Given the description of an element on the screen output the (x, y) to click on. 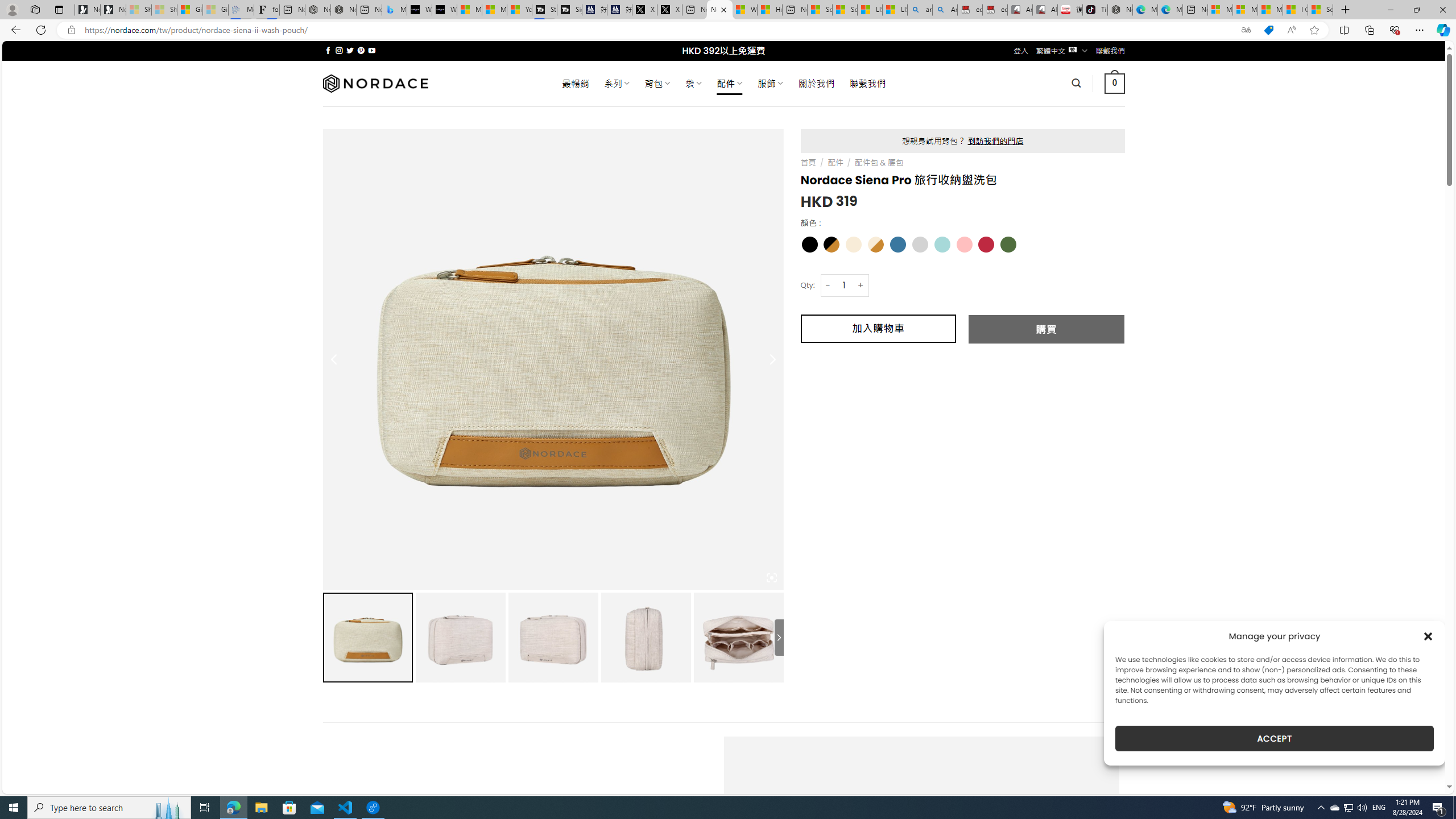
- (827, 284)
This site has coupons! Shopping in Microsoft Edge (1268, 29)
Follow on Instagram (338, 50)
Microsoft account | Privacy (1244, 9)
